Given the description of an element on the screen output the (x, y) to click on. 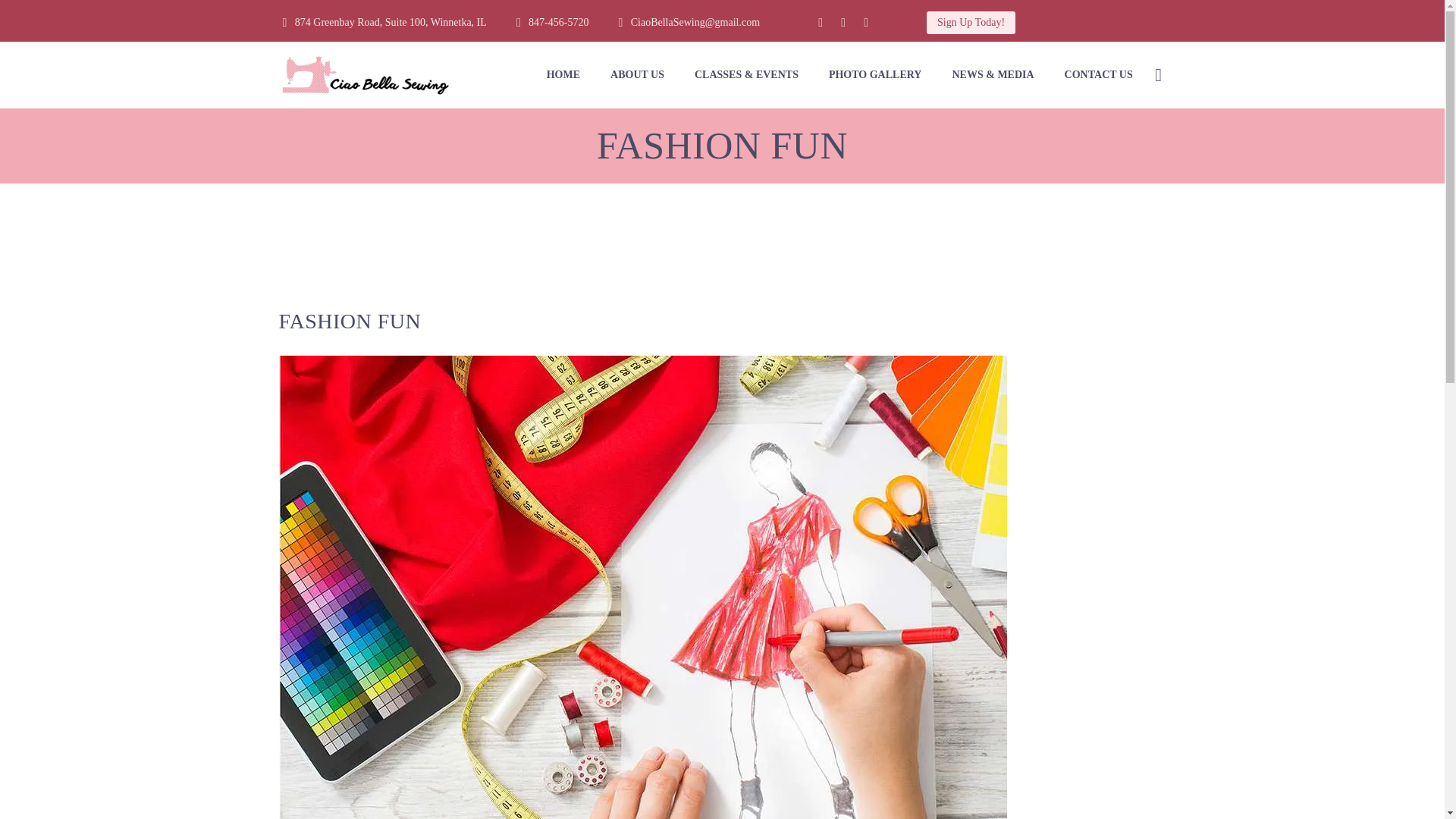
Pinterest (865, 22)
Facebook (820, 22)
ABOUT US (637, 74)
Instagram (842, 22)
CONTACT US (1098, 74)
Sign Up Today! (970, 22)
847-456-5720 (558, 21)
PHOTO GALLERY (875, 74)
HOME (563, 74)
